Given the description of an element on the screen output the (x, y) to click on. 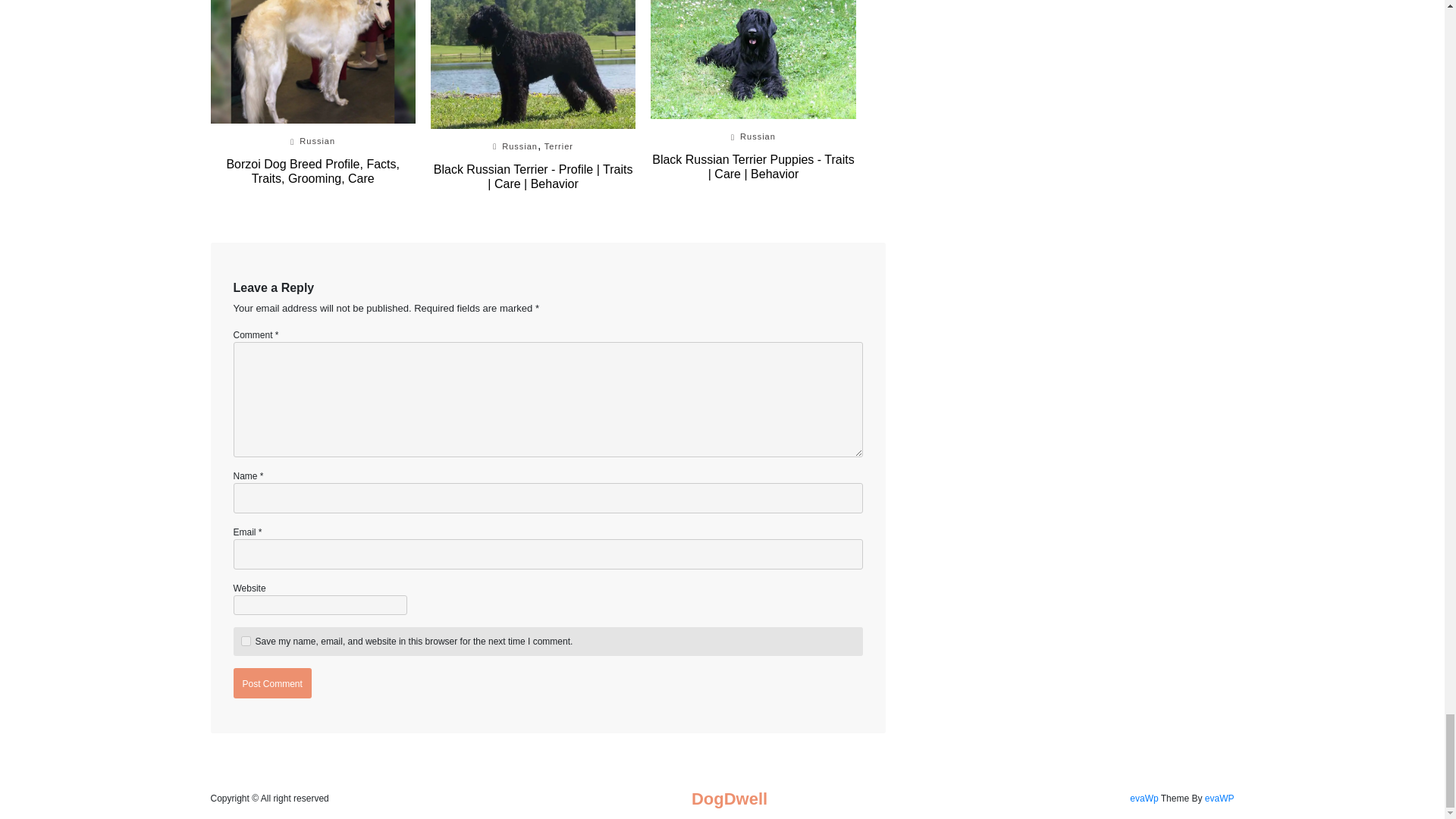
Post Comment (271, 683)
yes (245, 641)
